Given the description of an element on the screen output the (x, y) to click on. 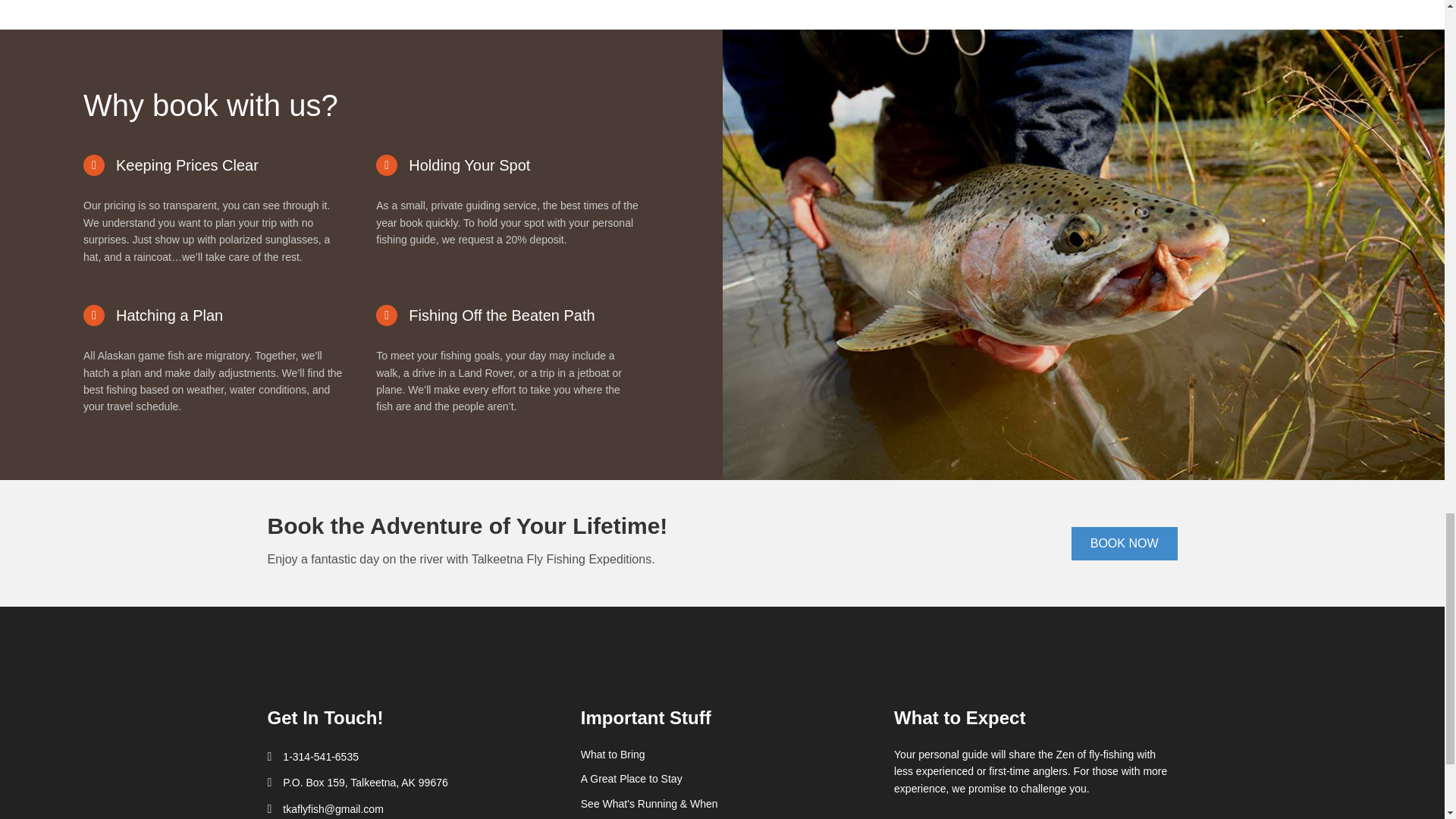
BOOK NOW (1124, 543)
P.O. Box 159, Talkeetna, AK 99676 (364, 782)
